Given the description of an element on the screen output the (x, y) to click on. 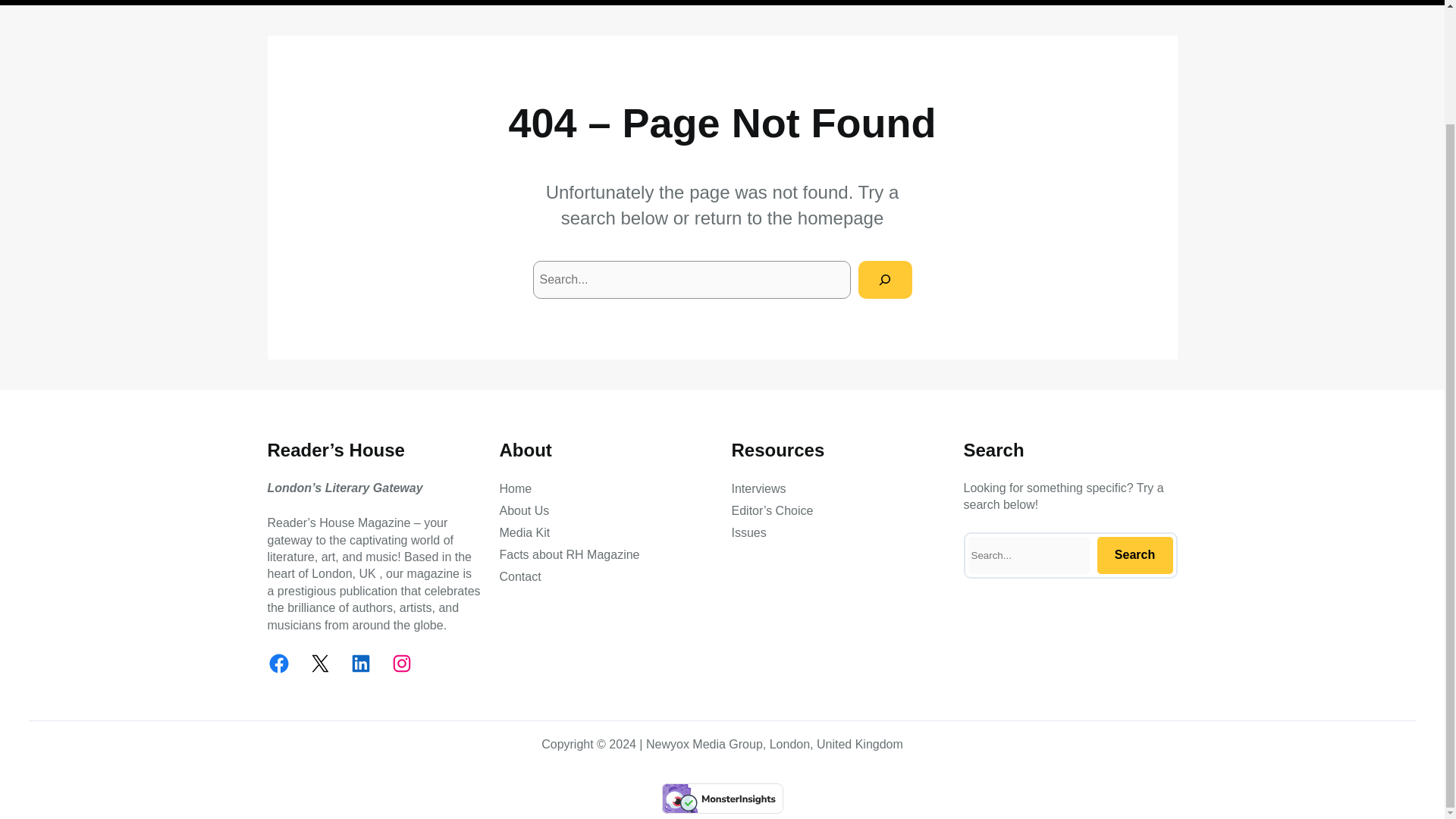
Media Kit (524, 533)
Interviews (758, 488)
Home (515, 488)
Facts about RH Magazine (569, 555)
LinkedIn (360, 662)
homepage (840, 218)
Facebook (277, 662)
Issues (747, 533)
Verified by MonsterInsights (722, 798)
Contact (519, 577)
About Us (523, 511)
X (318, 662)
Search (1134, 555)
Instagram (401, 662)
